Given the description of an element on the screen output the (x, y) to click on. 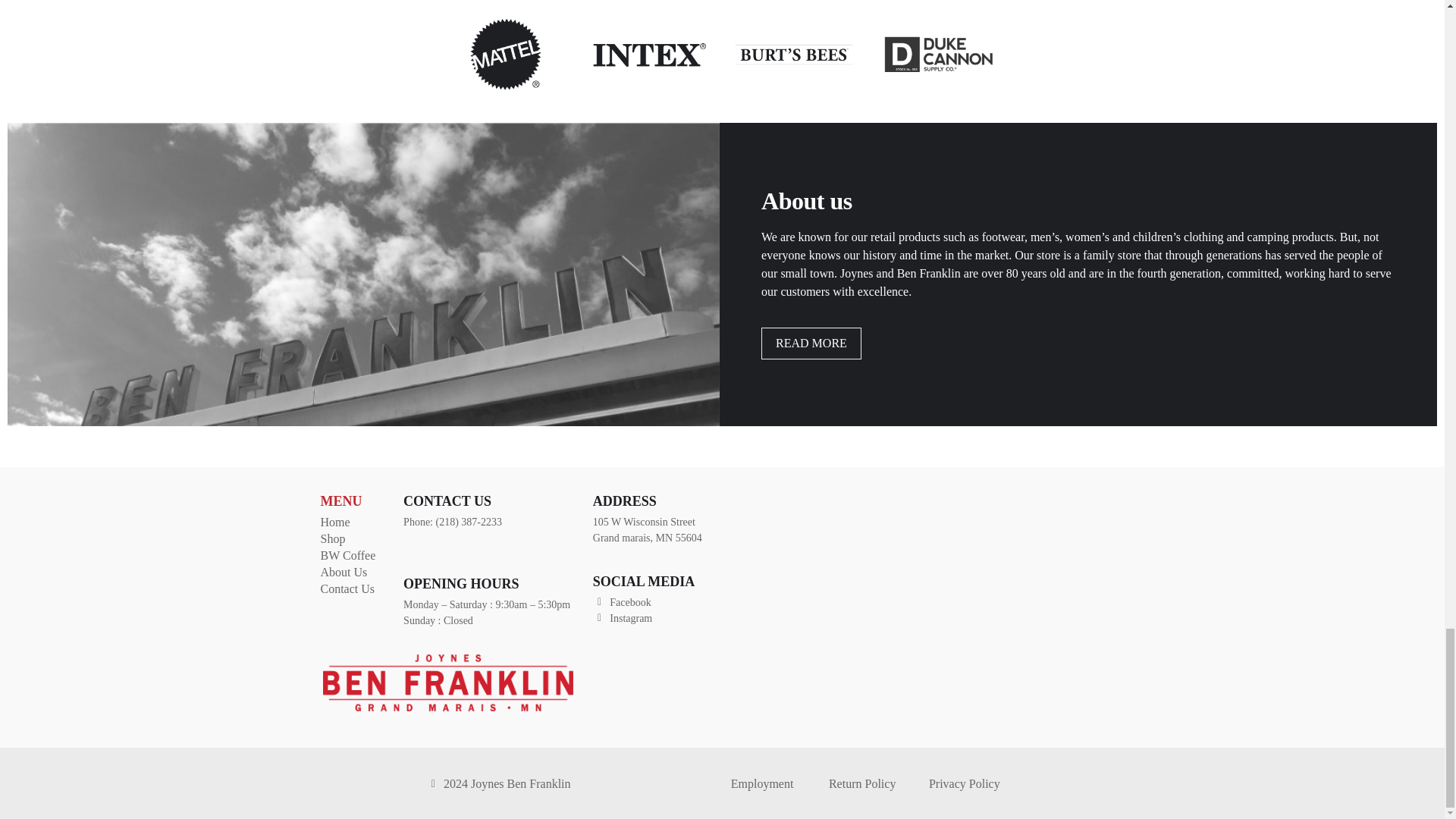
Home (354, 522)
Facebook (651, 602)
Joynes Ben Franklin Department Store (925, 607)
BW Coffee (354, 555)
About Us (354, 572)
Instagram (651, 618)
Shop (354, 538)
READ MORE (811, 343)
Contact Us (354, 588)
